Given the description of an element on the screen output the (x, y) to click on. 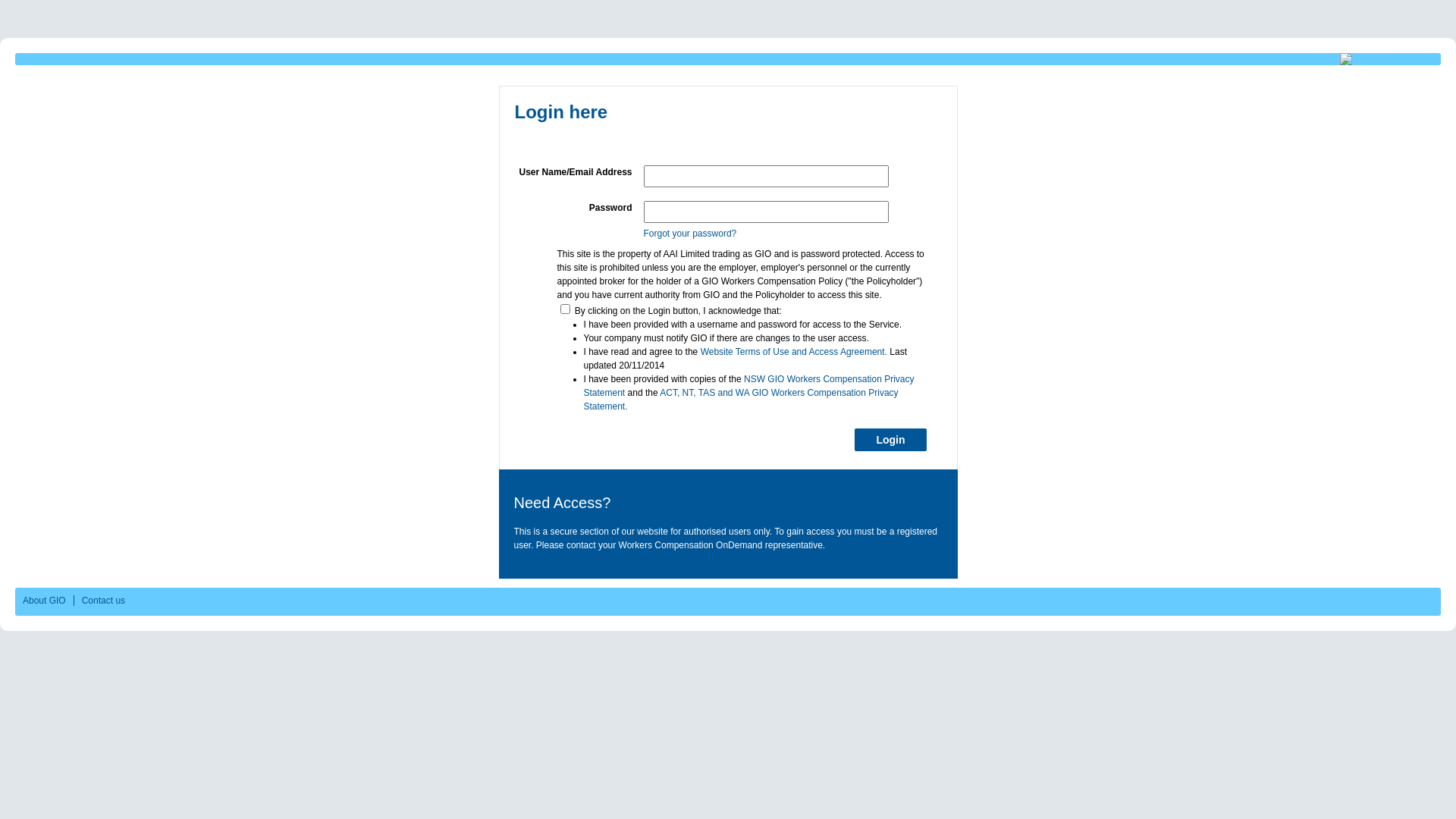
Login Element type: text (889, 439)
NSW GIO Workers Compensation Privacy Statement Element type: text (748, 385)
About GIO Element type: text (43, 600)
Forgot your password? Element type: text (689, 233)
Contact us Element type: text (99, 600)
Website Terms of Use and Access Agreement. Element type: text (793, 351)
